Given the description of an element on the screen output the (x, y) to click on. 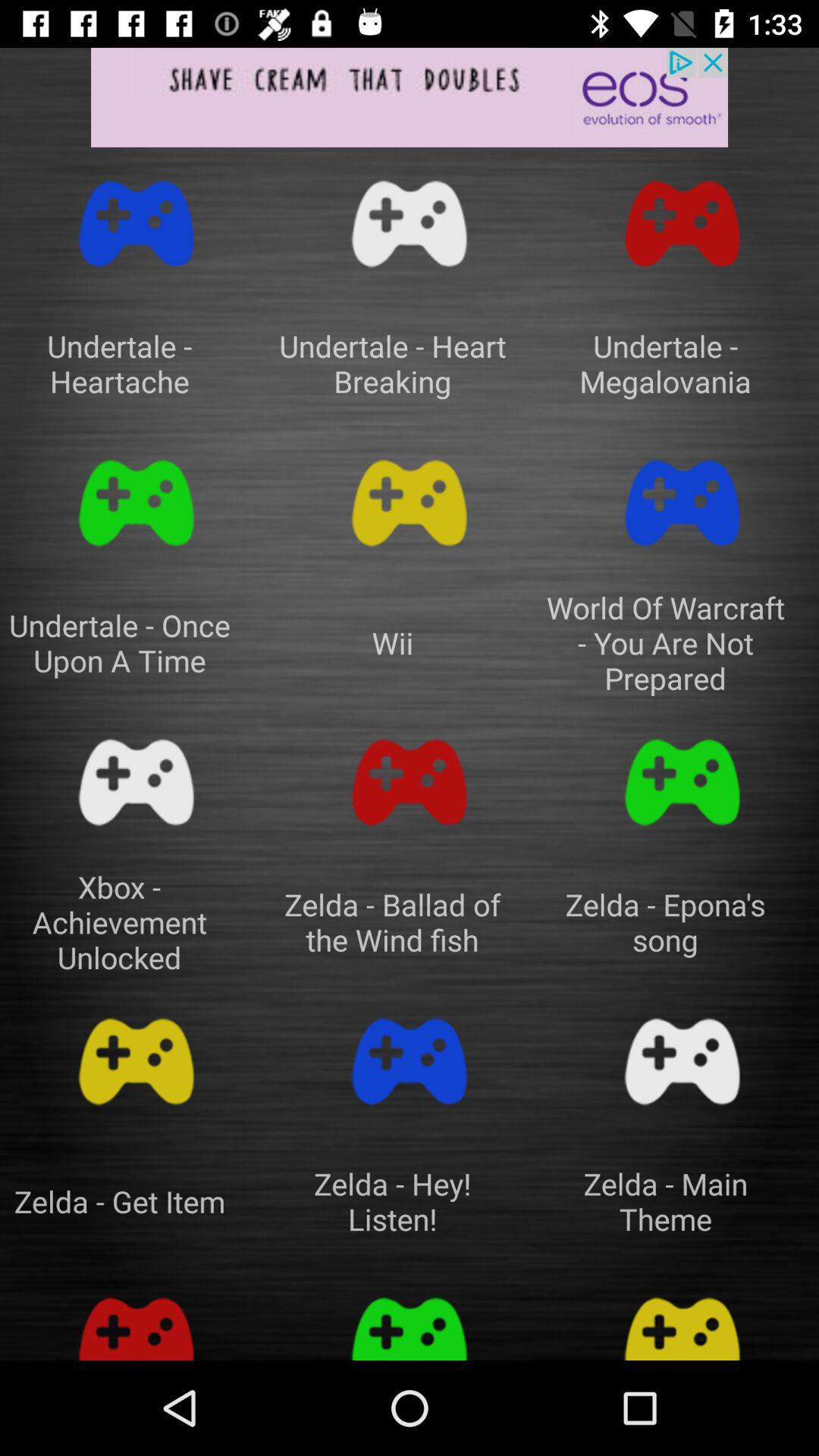
game (136, 1061)
